Given the description of an element on the screen output the (x, y) to click on. 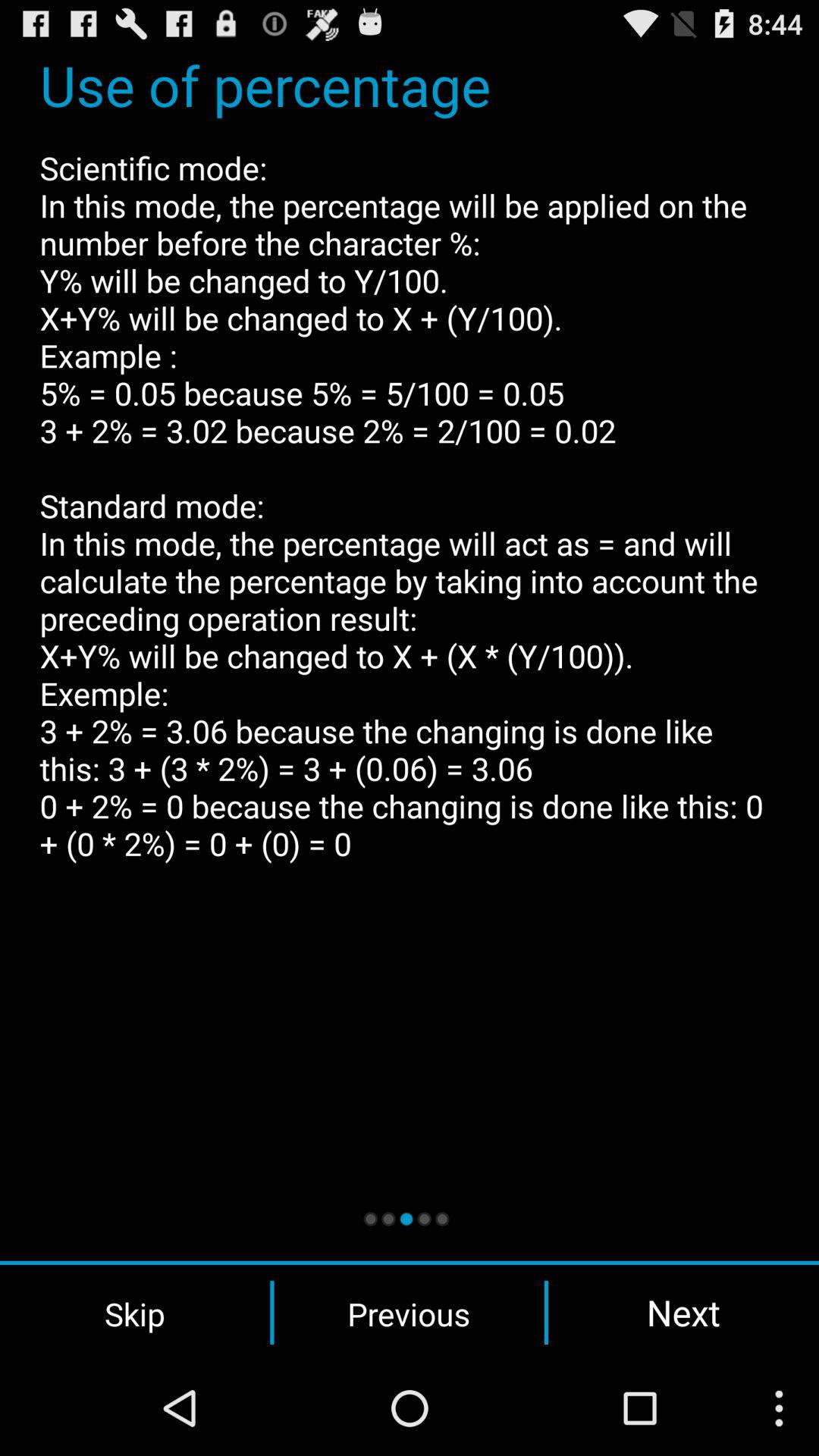
turn off the skip item (135, 1313)
